Given the description of an element on the screen output the (x, y) to click on. 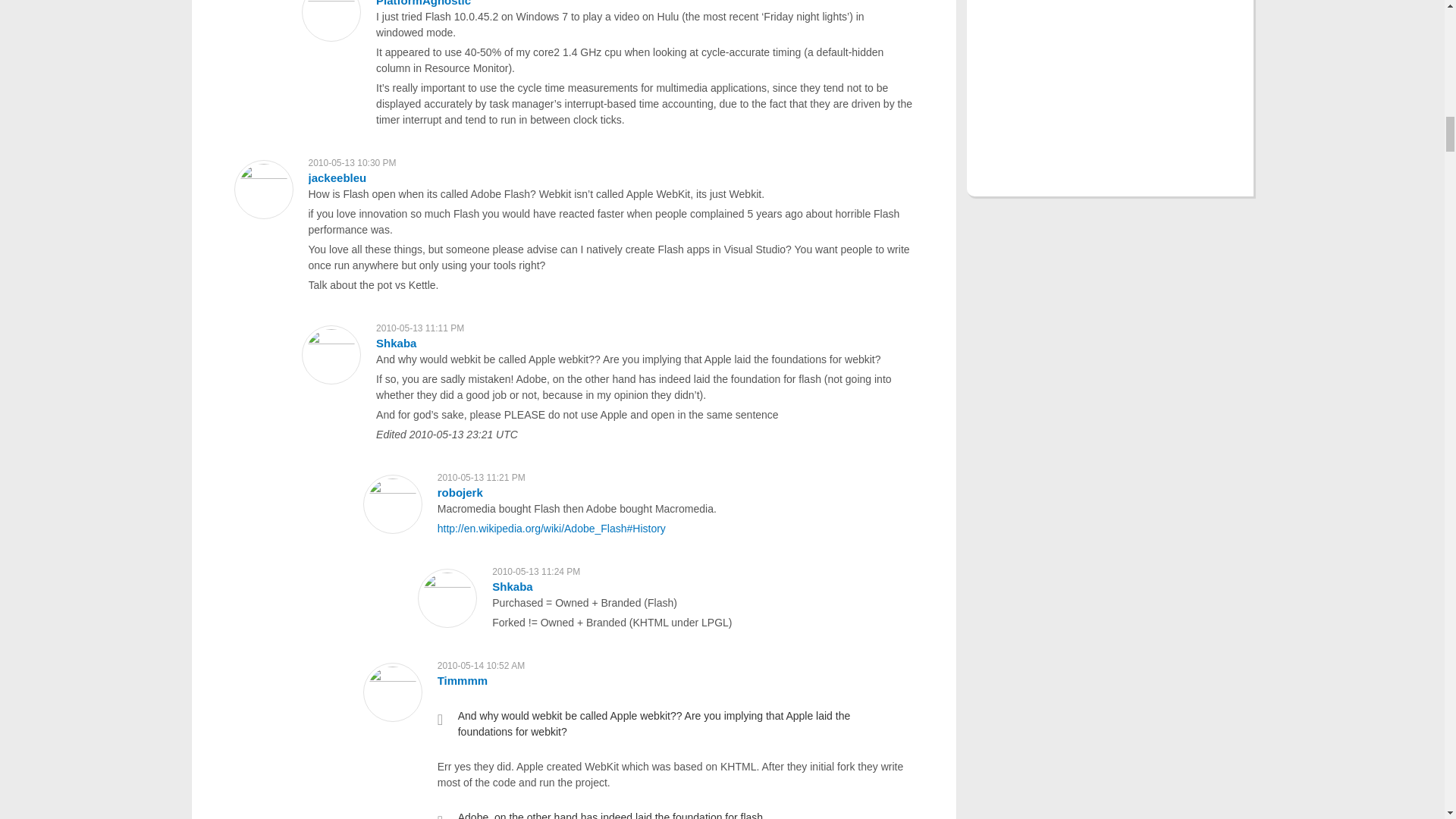
Timmmm (462, 680)
robojerk (460, 492)
PlatformAgnostic (422, 3)
Shkaba (395, 342)
jackeebleu (336, 177)
Shkaba (512, 585)
